Given the description of an element on the screen output the (x, y) to click on. 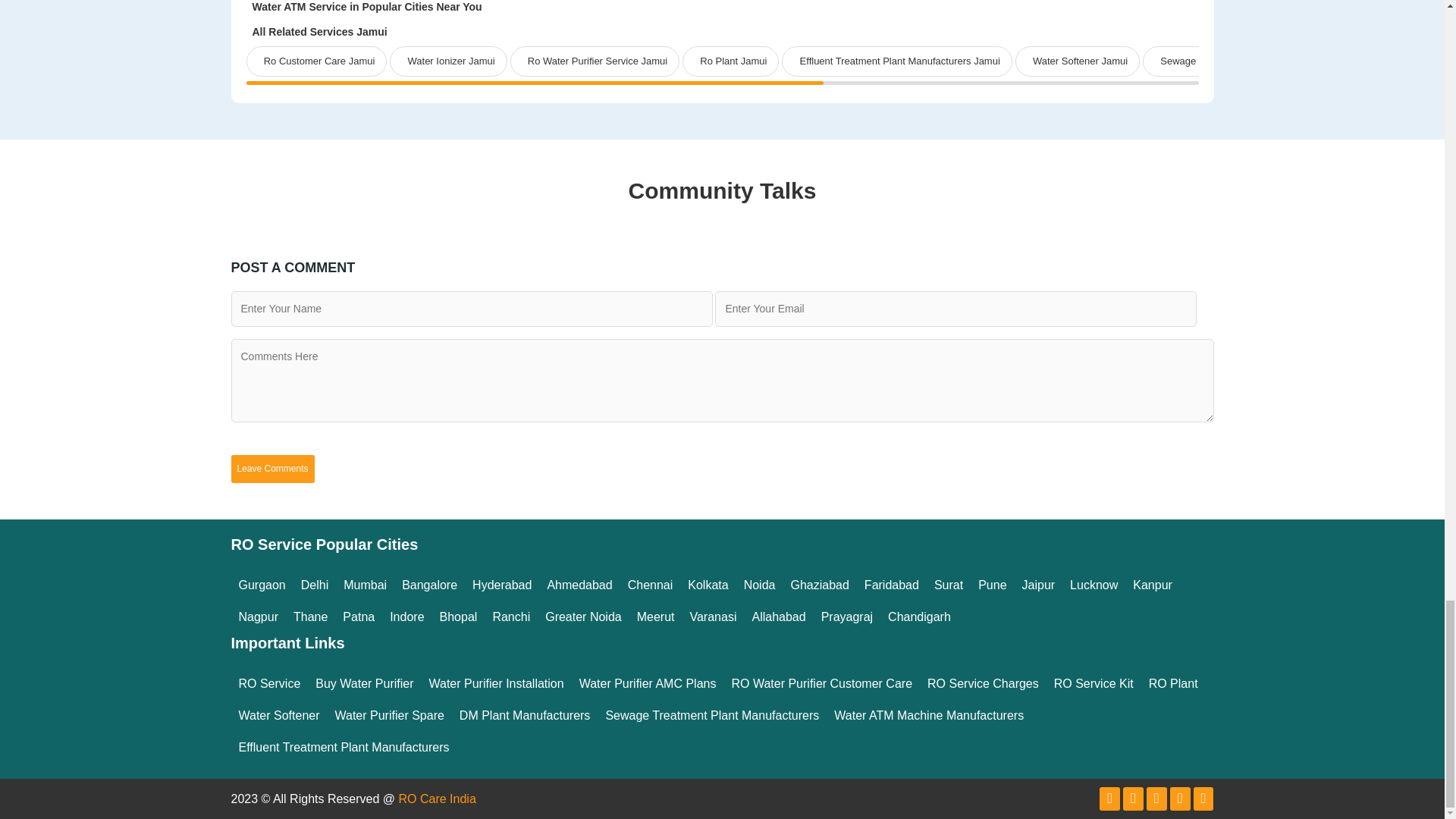
Leave Comments (272, 469)
